Given the description of an element on the screen output the (x, y) to click on. 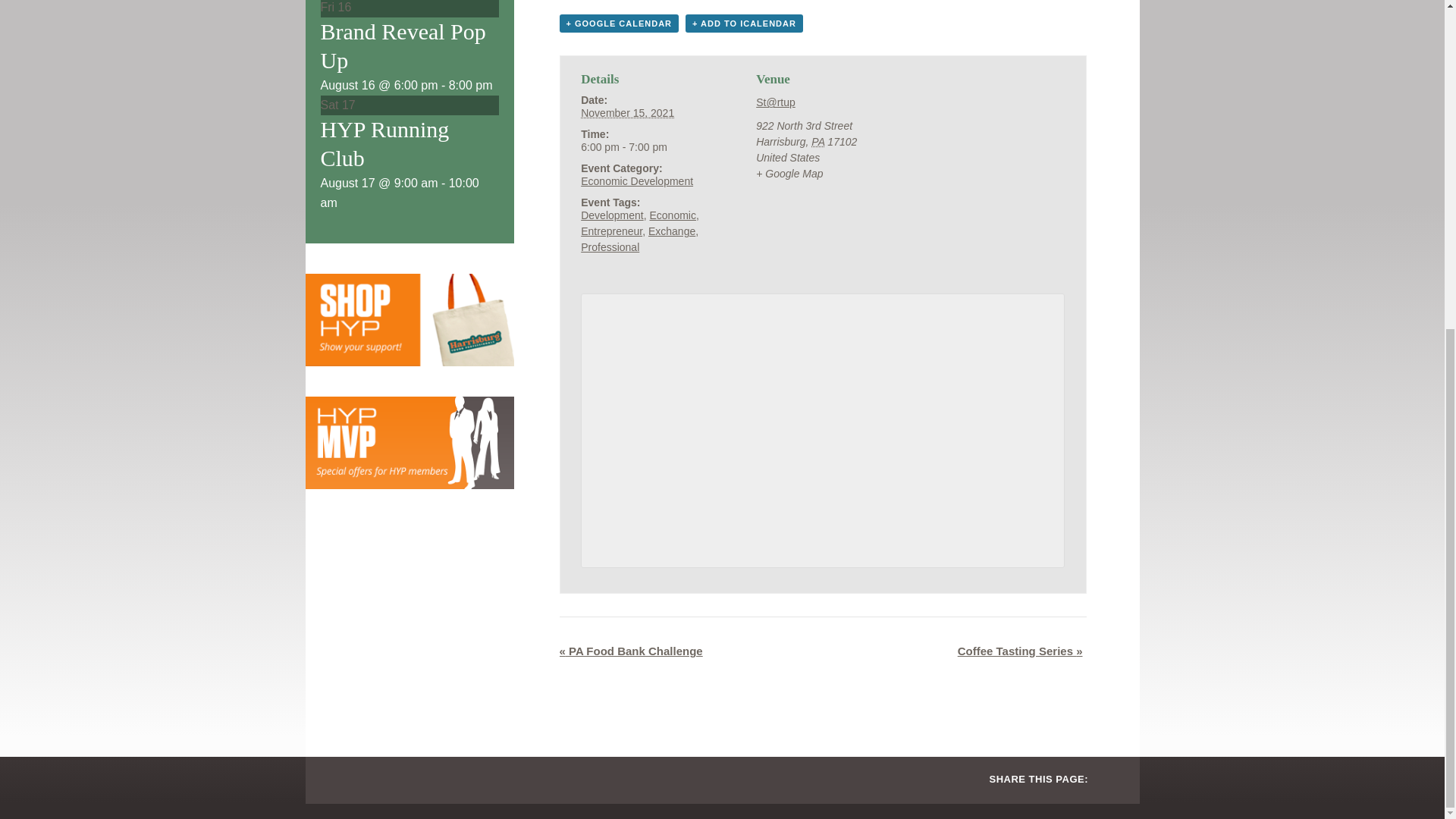
2021-11-15 (647, 147)
HYP Running Club (384, 143)
Pennsylvania (817, 141)
Brand Reveal Pop Up (402, 45)
Add to Google Calendar (619, 23)
2021-11-15 (627, 112)
Download .ics file (744, 23)
Click to view a Google Map (788, 173)
